Given the description of an element on the screen output the (x, y) to click on. 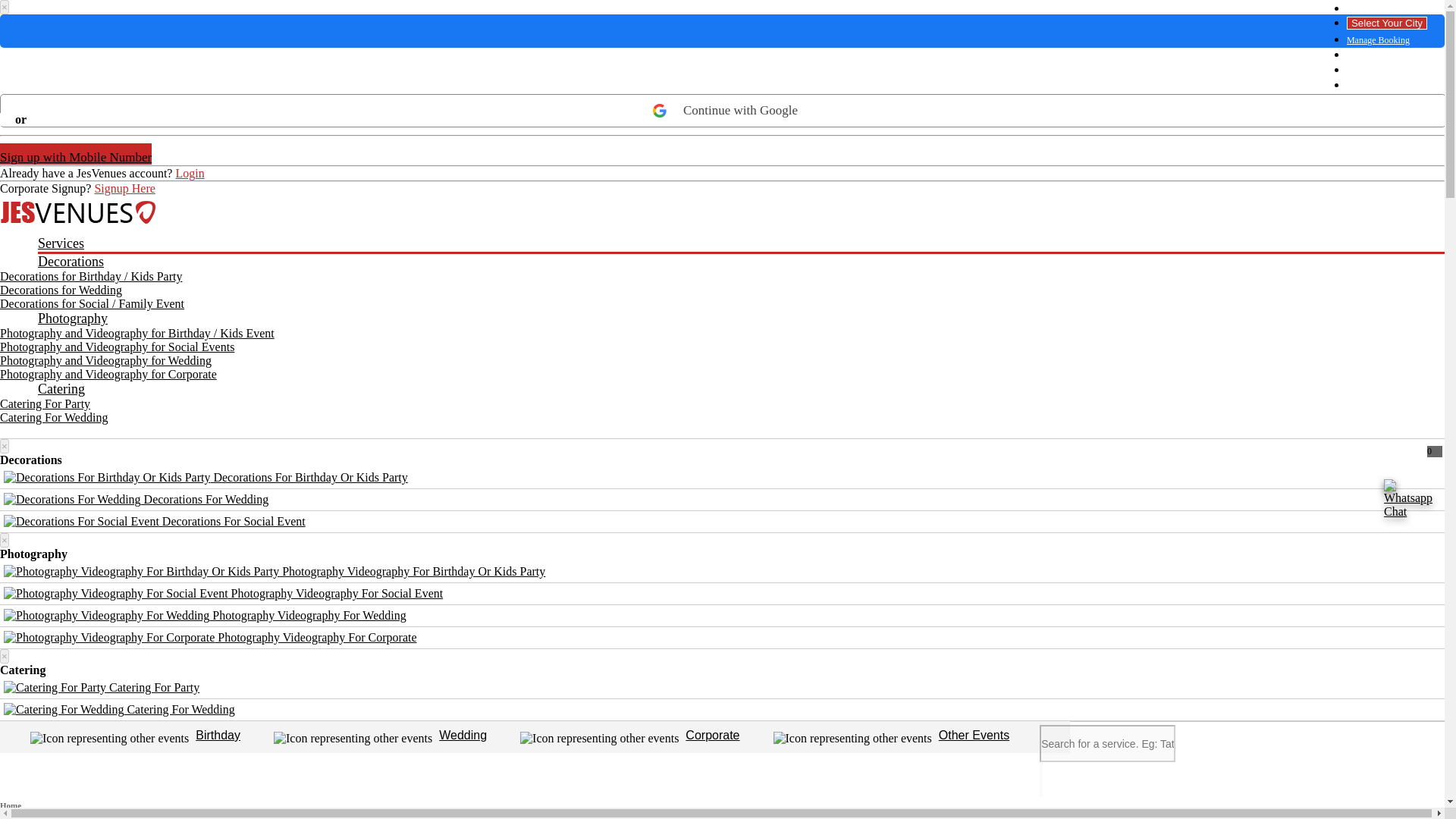
Decorations (740, 261)
Photography and Videography for Wedding (105, 359)
Photography and Videography for Social Events (117, 346)
Select Your City (1386, 22)
Decorations For Social Event (154, 521)
JesVenues Customer Care Number (1386, 9)
Services (740, 244)
Login (188, 173)
JesVenues (722, 211)
Decorations for Wedding (61, 289)
Select Your City (1386, 22)
Photography and Videography for Corporate (108, 373)
